Given the description of an element on the screen output the (x, y) to click on. 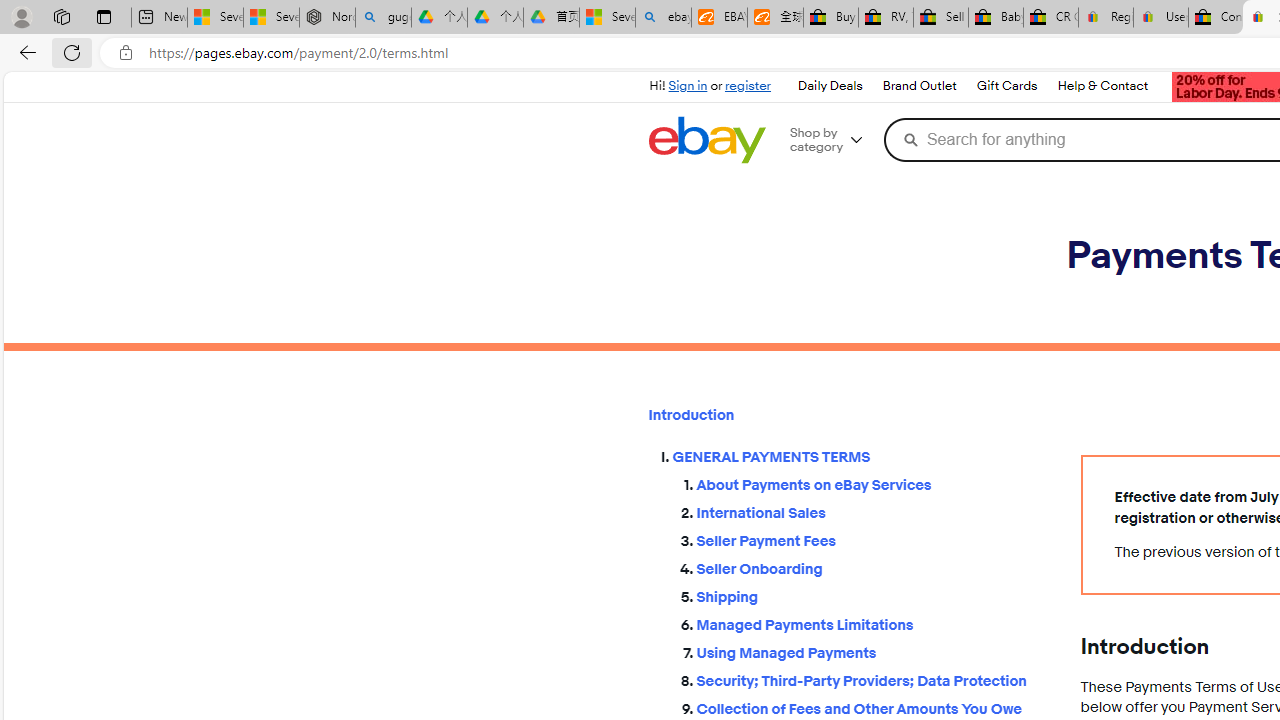
Buy Auto Parts & Accessories | eBay (830, 17)
Brand Outlet (918, 85)
Managed Payments Limitations (872, 620)
Collection of Fees and Other Amounts You Owe (872, 709)
Sell worldwide with eBay (940, 17)
Help & Contact (1101, 85)
Collection of Fees and Other Amounts You Owe (872, 705)
International Sales (872, 513)
About Payments on eBay Services (872, 485)
